Given the description of an element on the screen output the (x, y) to click on. 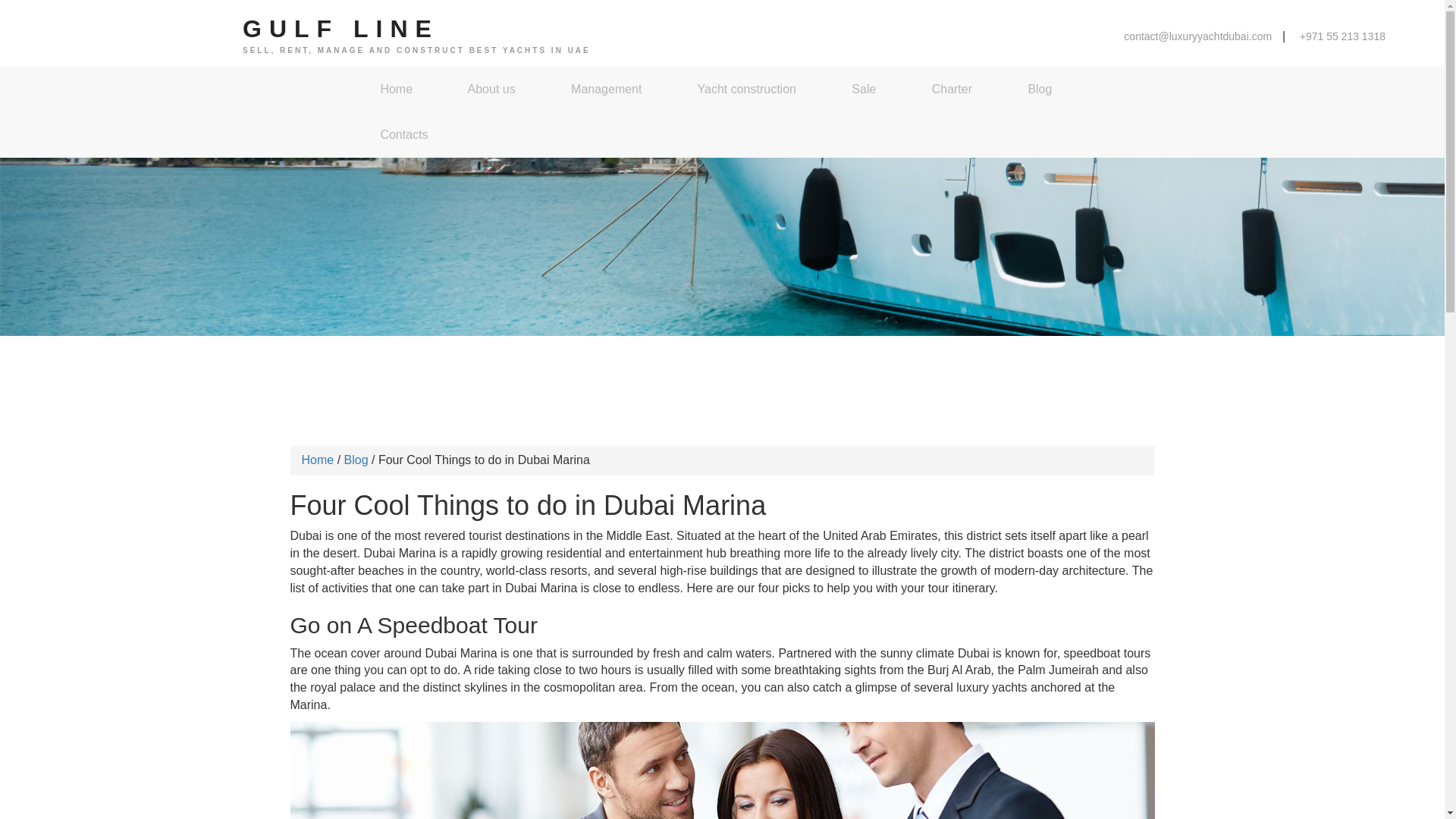
Home (394, 89)
Home (317, 459)
Blog (355, 459)
Yacht construction (745, 89)
Blog (1037, 89)
Sale (861, 89)
Charter (950, 89)
About us (490, 89)
Management (604, 89)
